Given the description of an element on the screen output the (x, y) to click on. 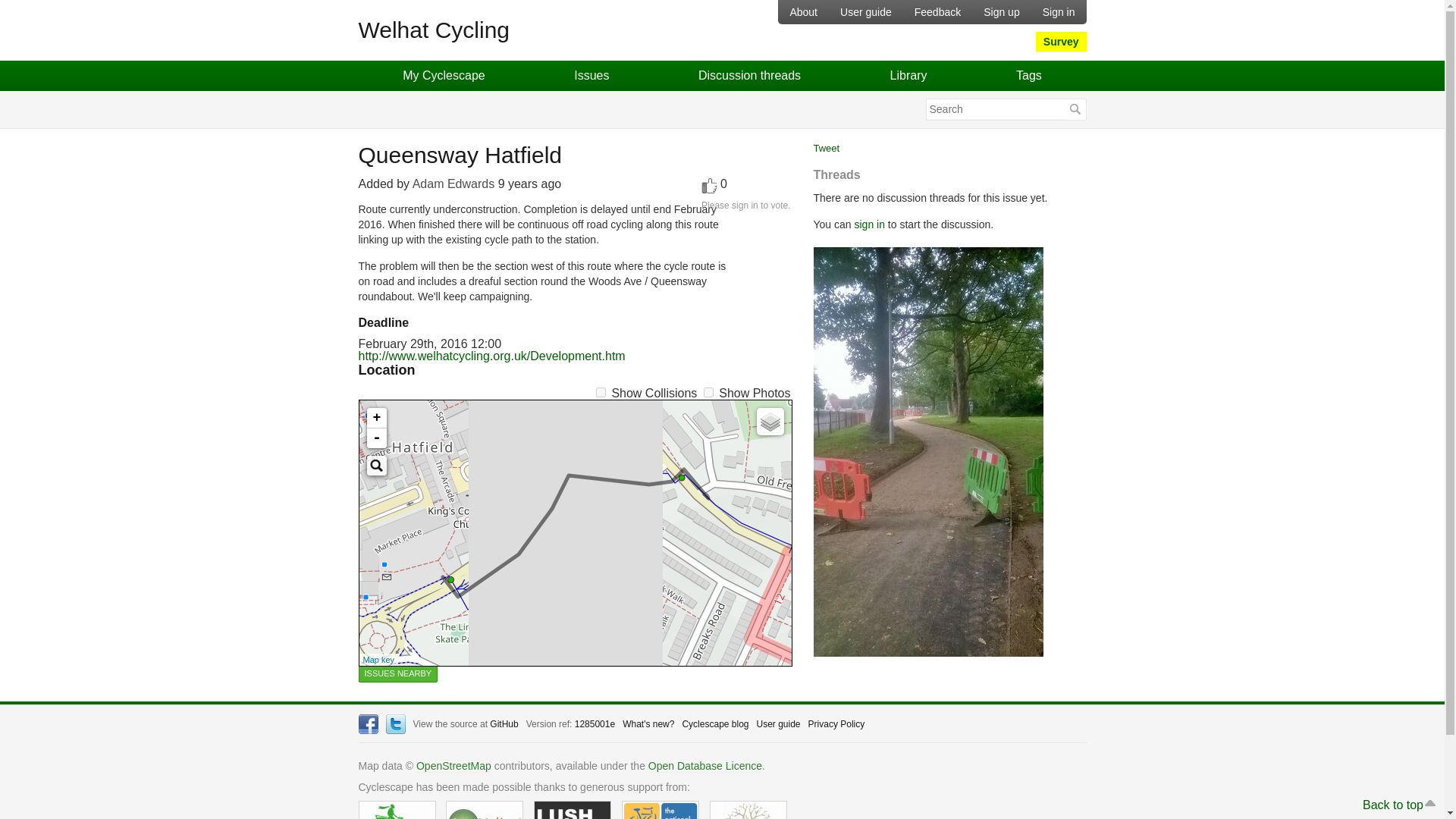
OpenStreetMap (454, 766)
Cyclescape Facebook page (367, 723)
- (376, 437)
Funding from Funding from GeoVation (483, 809)
Cyclescape Twitter account (394, 723)
Adam Edwards (453, 183)
Funding from CycleStreets (396, 809)
Survey (1060, 41)
Library (908, 75)
Tags (1028, 75)
